Given the description of an element on the screen output the (x, y) to click on. 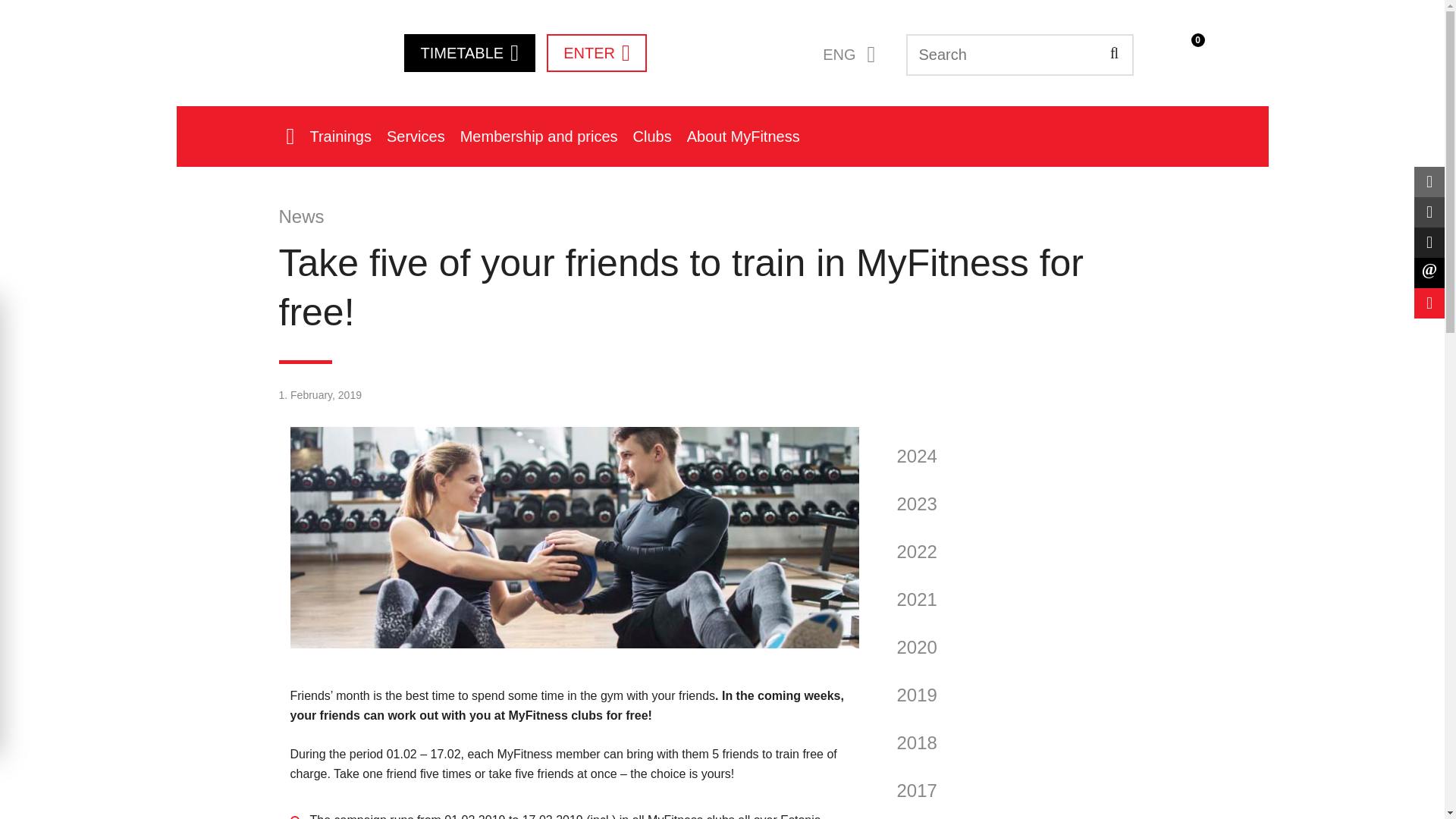
ENG (842, 55)
Services (415, 140)
MyFitness (259, 50)
TIMETABLE (469, 53)
0 (1181, 55)
Clubs (652, 140)
ENTER (596, 53)
Membership and prices (539, 140)
Trainings (339, 140)
SEARCH (1113, 53)
